Given the description of an element on the screen output the (x, y) to click on. 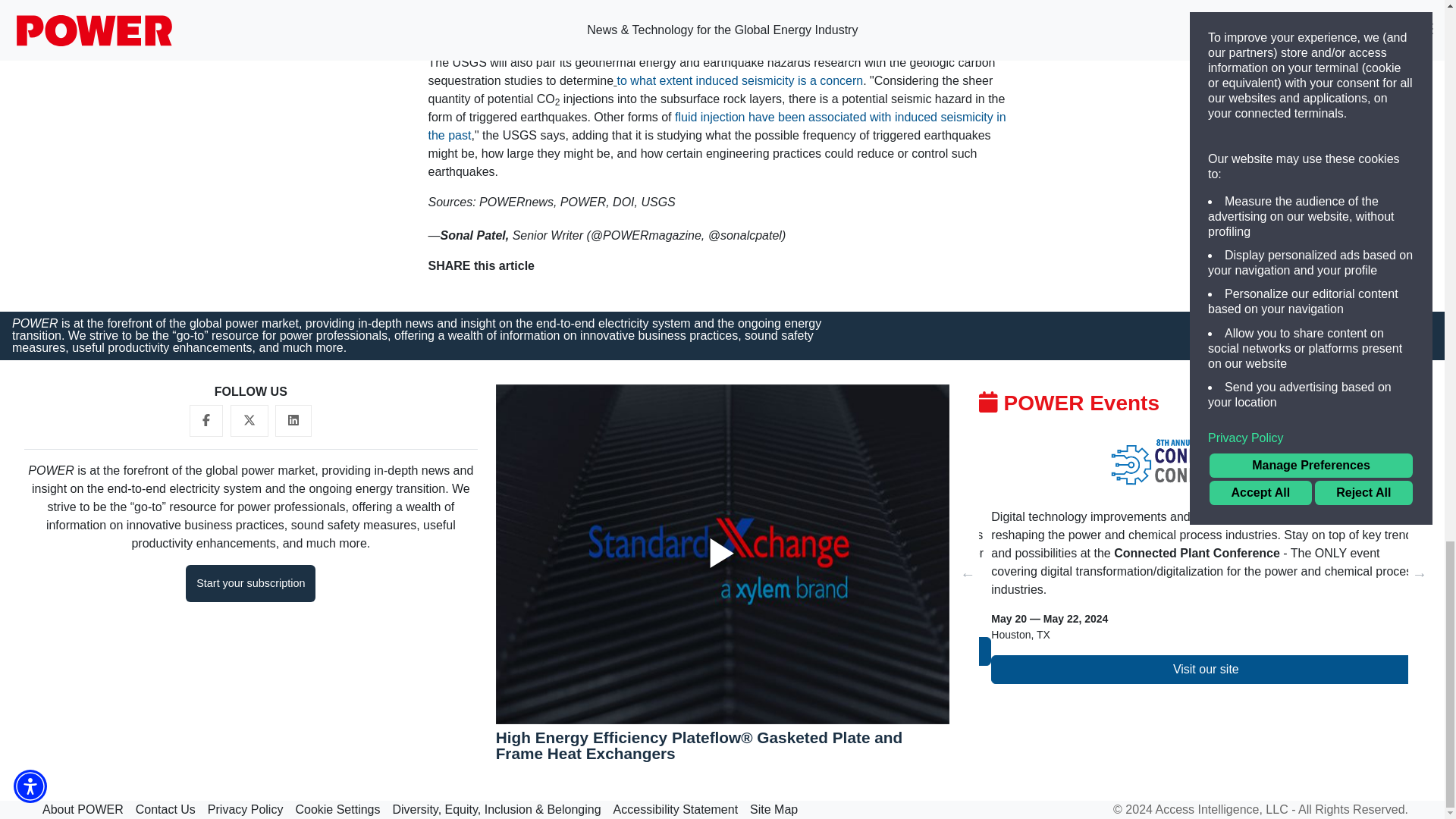
3rd party ad content (1181, 16)
